Given the description of an element on the screen output the (x, y) to click on. 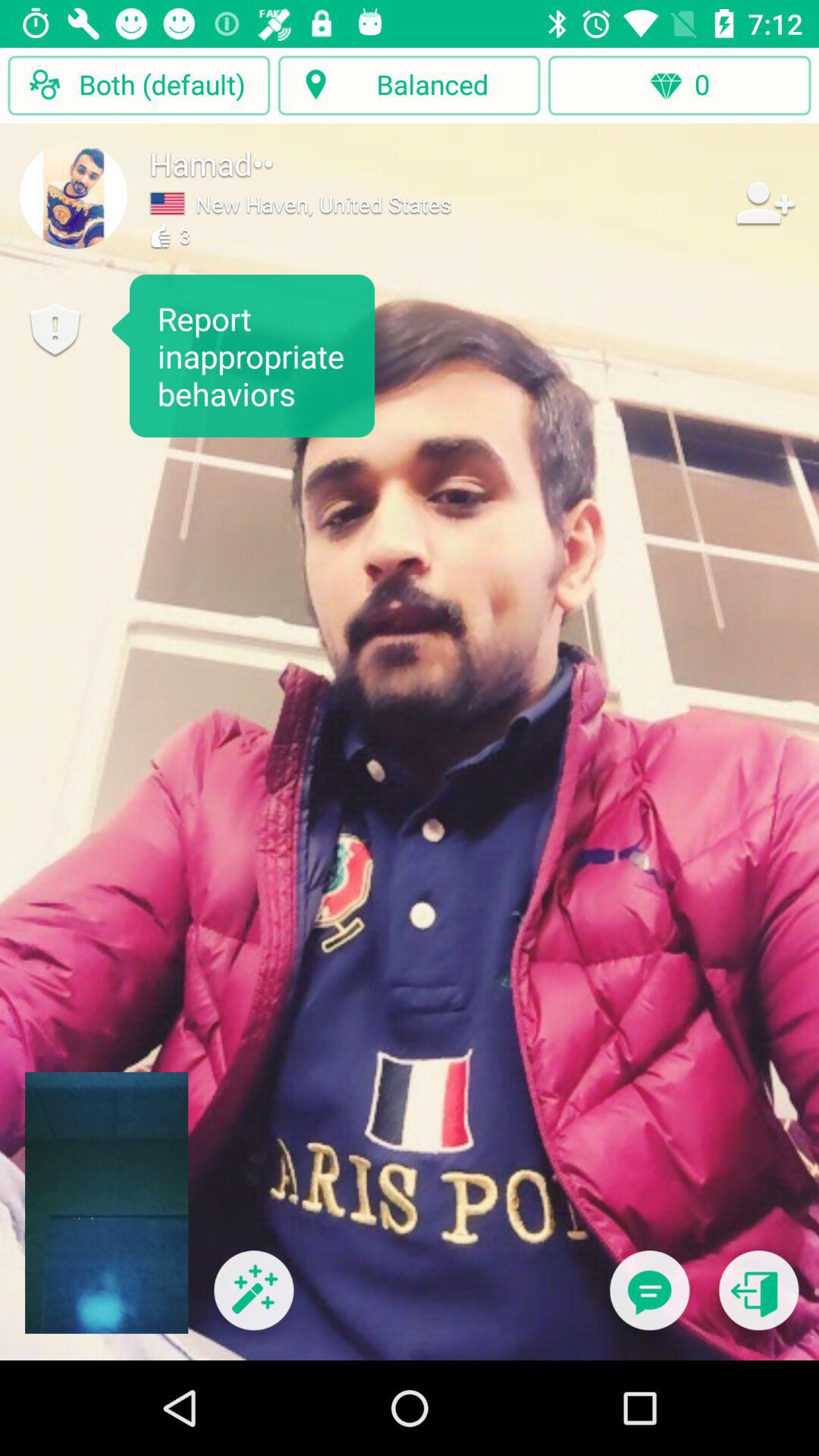
tap the item next to new haven united item (763, 202)
